Given the description of an element on the screen output the (x, y) to click on. 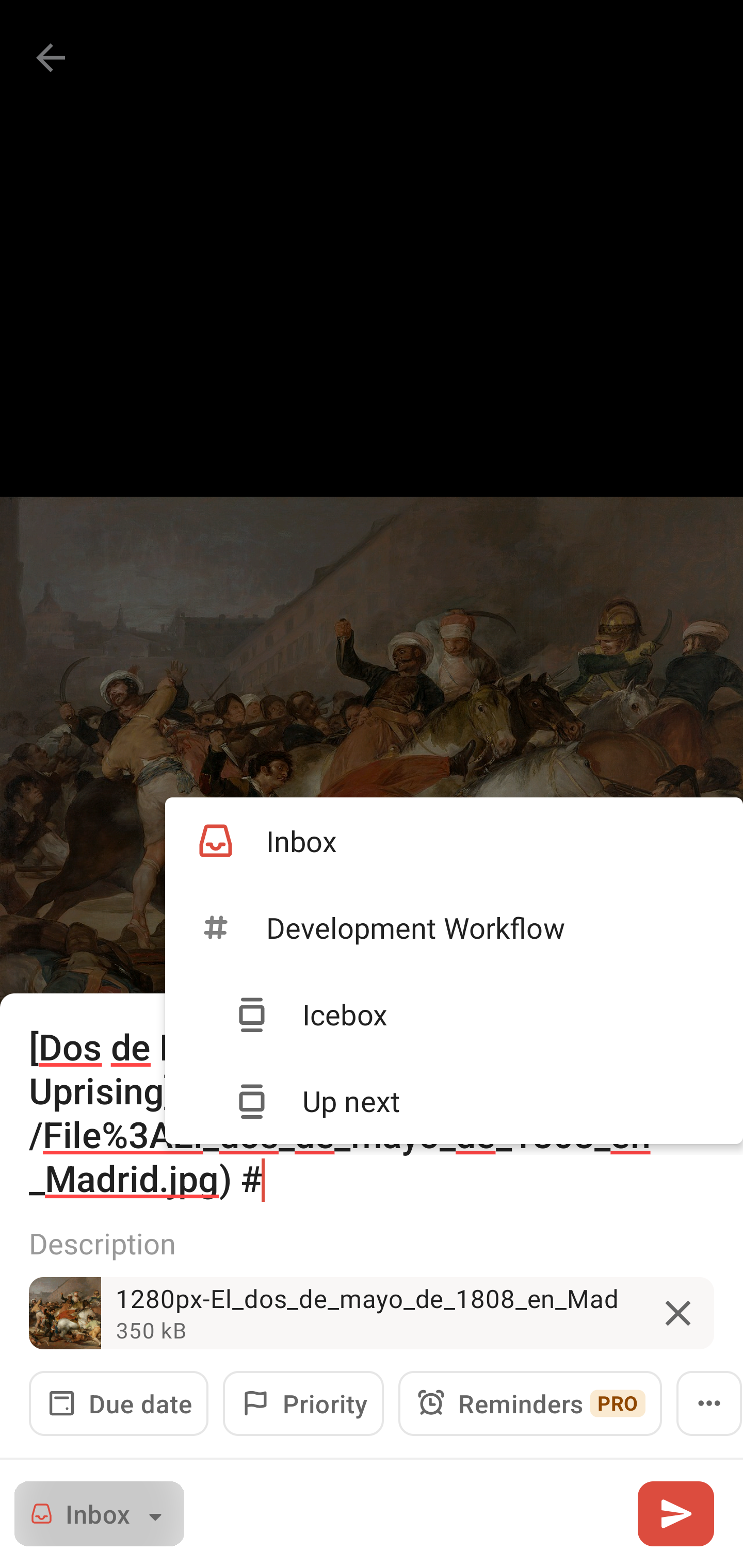
Description (371, 1242)
Remove attachment (677, 1313)
Due date Date (118, 1403)
Priority (303, 1403)
Reminders PRO Reminders (530, 1403)
Open menu (709, 1403)
Inbox Project (99, 1513)
Add (675, 1513)
